Given the description of an element on the screen output the (x, y) to click on. 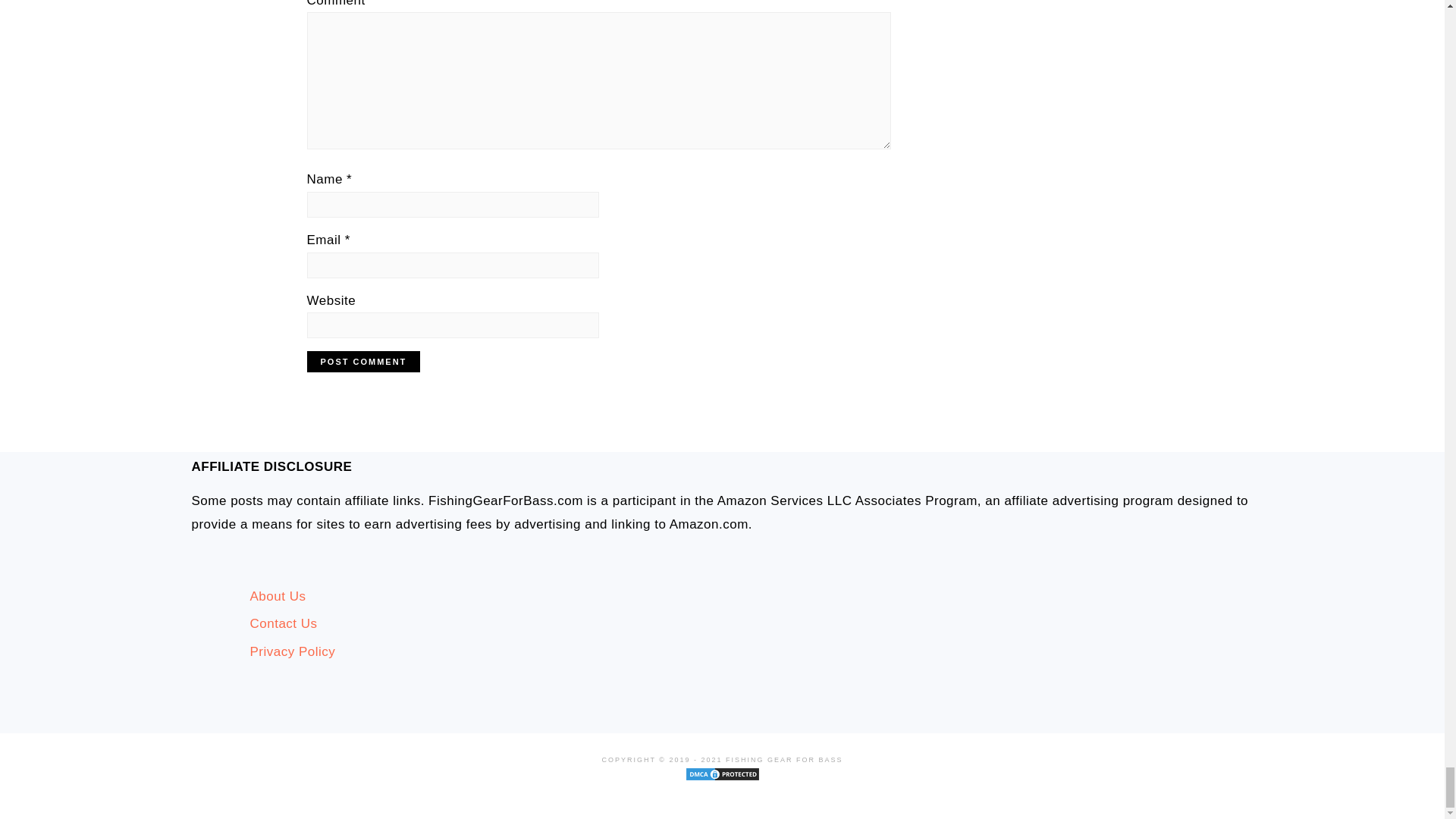
DMCA.com Protection Status (722, 792)
Post Comment (362, 361)
